Given the description of an element on the screen output the (x, y) to click on. 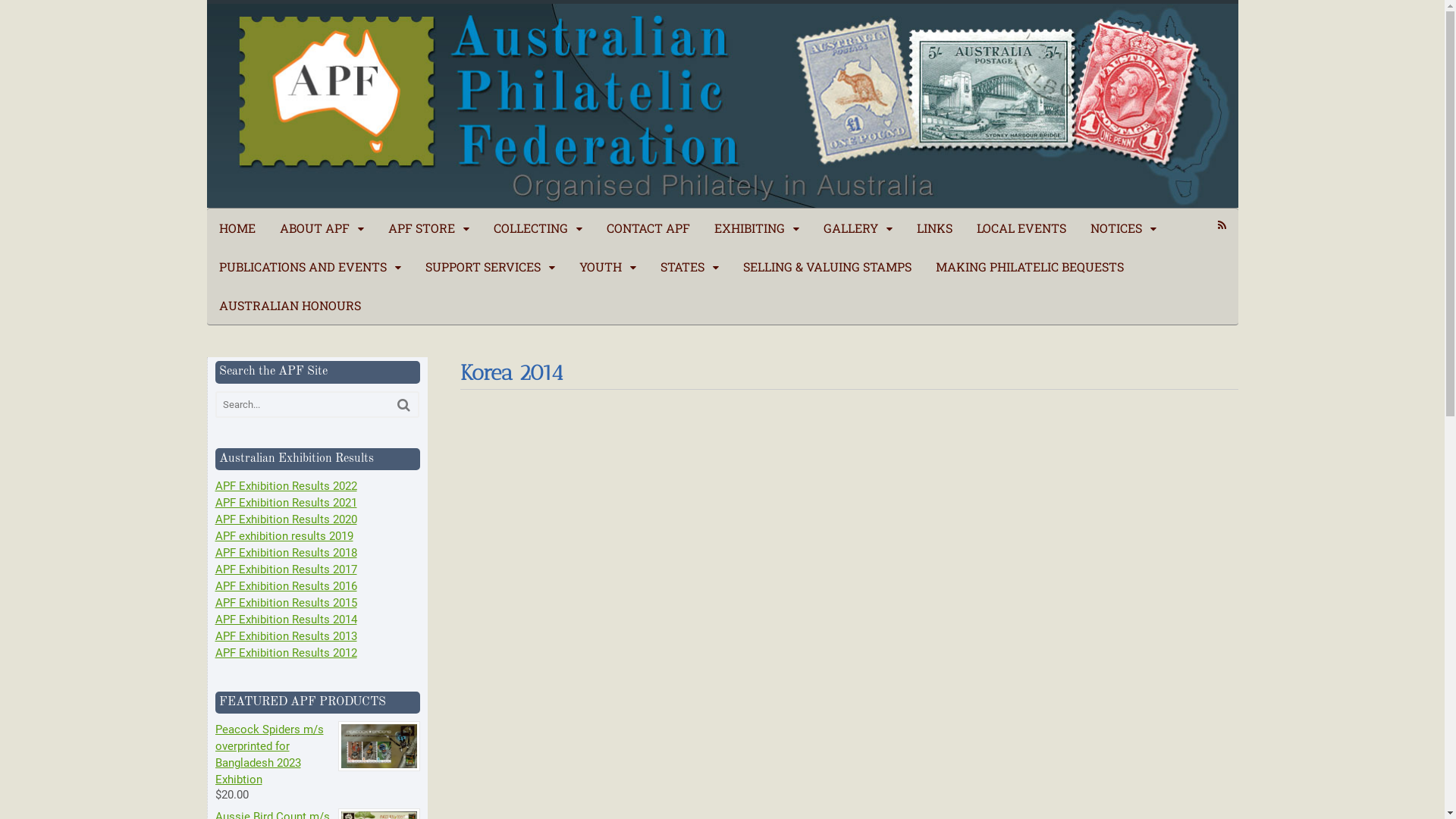
STATES Element type: text (689, 266)
APF exhibition results 2019 Element type: text (284, 535)
APF Exhibition Results 2012 Element type: text (286, 652)
MAKING PHILATELIC BEQUESTS Element type: text (1029, 266)
EXHIBITING Element type: text (756, 227)
APF Exhibition Results 2013 Element type: text (286, 636)
APF Exhibition Results 2020 Element type: text (286, 519)
APF Exhibition Results 2017 Element type: text (286, 569)
Search Element type: text (403, 404)
HOME Element type: text (236, 227)
NOTICES Element type: text (1123, 227)
APF Exhibition Results 2021 Element type: text (286, 502)
APF Exhibition Results 2018 Element type: text (286, 552)
LINKS Element type: text (934, 227)
ABOUT APF Element type: text (320, 227)
APF Exhibition Results 2016 Element type: text (286, 586)
COLLECTING Element type: text (537, 227)
APF Exhibition Results 2022 Element type: text (286, 485)
GALLERY Element type: text (857, 227)
YOUTH Element type: text (607, 266)
AUSTRALIAN HONOURS Element type: text (289, 304)
APF Exhibition Results 2014 Element type: text (286, 619)
PUBLICATIONS AND EVENTS Element type: text (309, 266)
CONTACT APF Element type: text (648, 227)
SUPPORT SERVICES Element type: text (490, 266)
SELLING & VALUING STAMPS Element type: text (827, 266)
LOCAL EVENTS Element type: text (1021, 227)
APF STORE Element type: text (428, 227)
APF Exhibition Results 2015 Element type: text (286, 602)
